Given the description of an element on the screen output the (x, y) to click on. 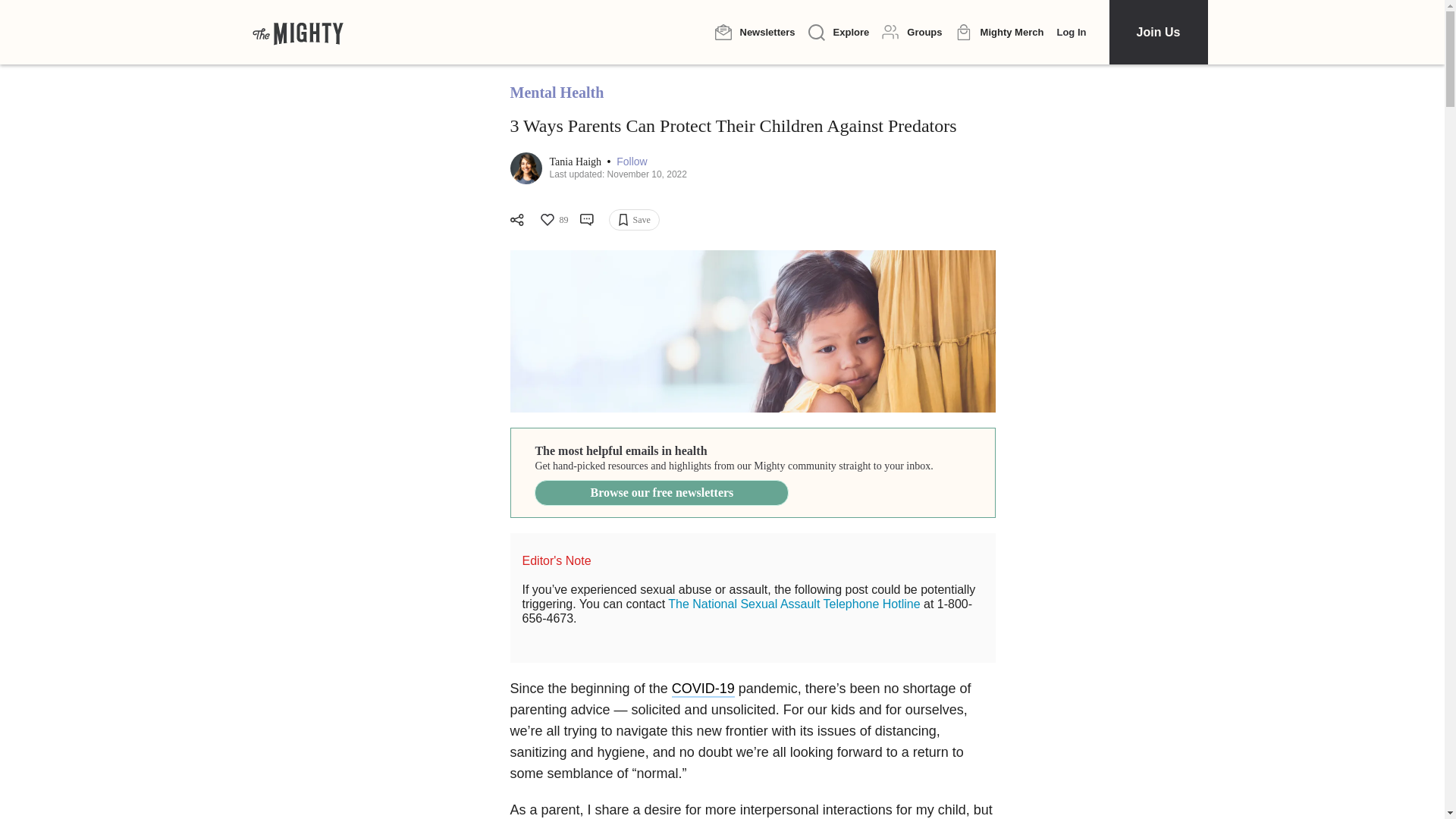
Follow (630, 161)
Explore (838, 32)
The Mighty (296, 32)
89 (552, 219)
Save (633, 219)
COVID-19 (703, 688)
Newsletters (754, 31)
Browse our free newsletters (661, 492)
Mighty Merch (999, 32)
Tania Haigh (576, 161)
Join Us (1157, 32)
Mental Health (556, 92)
The National Sexual Assault Telephone Hotline (794, 603)
Log In (1071, 31)
Groups (912, 32)
